Given the description of an element on the screen output the (x, y) to click on. 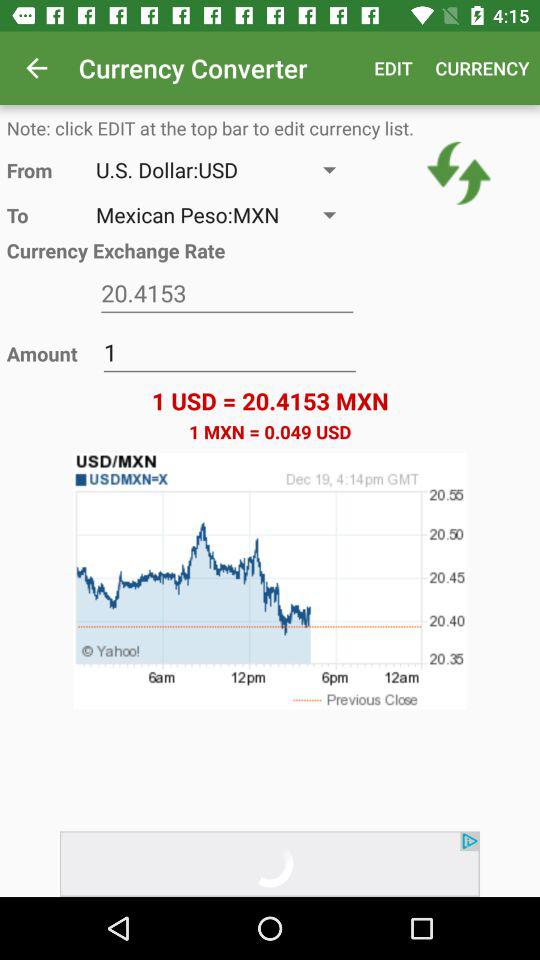
convert currency (458, 173)
